Given the description of an element on the screen output the (x, y) to click on. 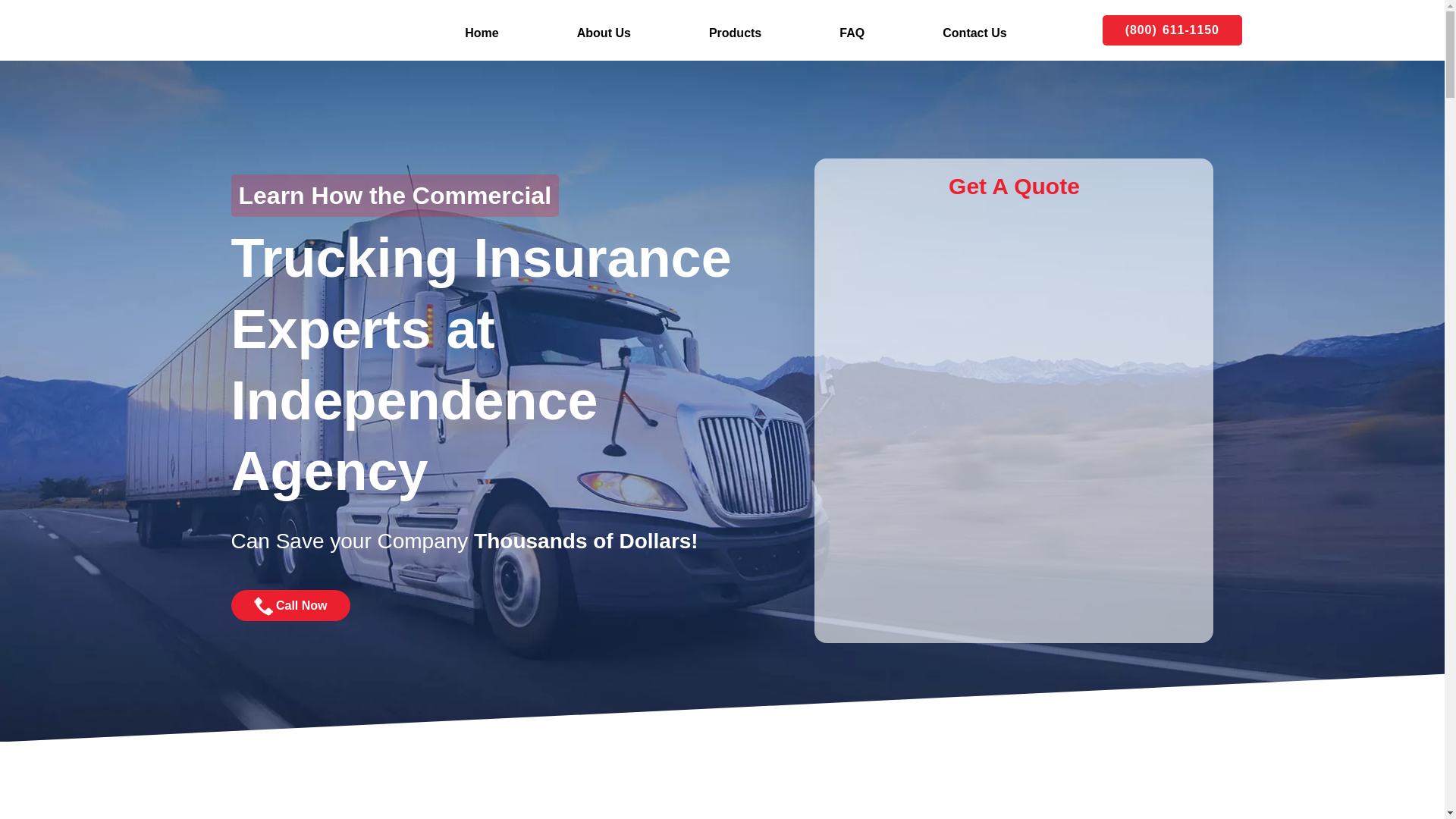
Home (482, 32)
Products (734, 32)
Contact Us (975, 32)
FAQ (852, 32)
About Us (603, 32)
Call Now (289, 604)
